Given the description of an element on the screen output the (x, y) to click on. 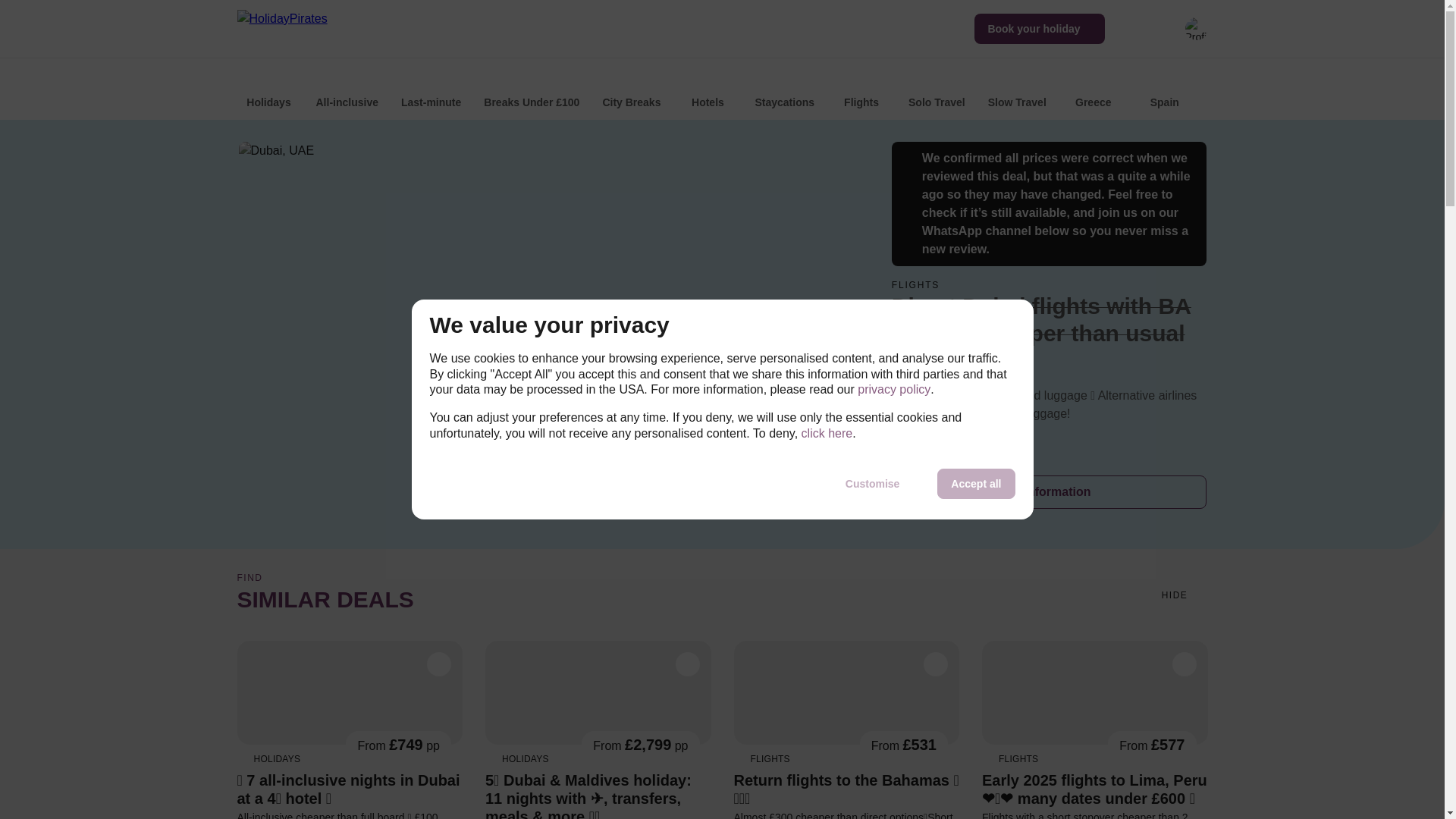
privacy policy (893, 389)
HIDE (1182, 594)
Book your holiday (1038, 28)
click here (827, 433)
Solo Travel (936, 91)
HolidayPirates (300, 28)
Hotels (707, 91)
Cruises (1378, 91)
Last-minute (430, 91)
Customise (872, 483)
Greece (1093, 91)
City Breaks (631, 91)
More information (1049, 491)
Holidays (267, 91)
All-inclusive (346, 91)
